Given the description of an element on the screen output the (x, y) to click on. 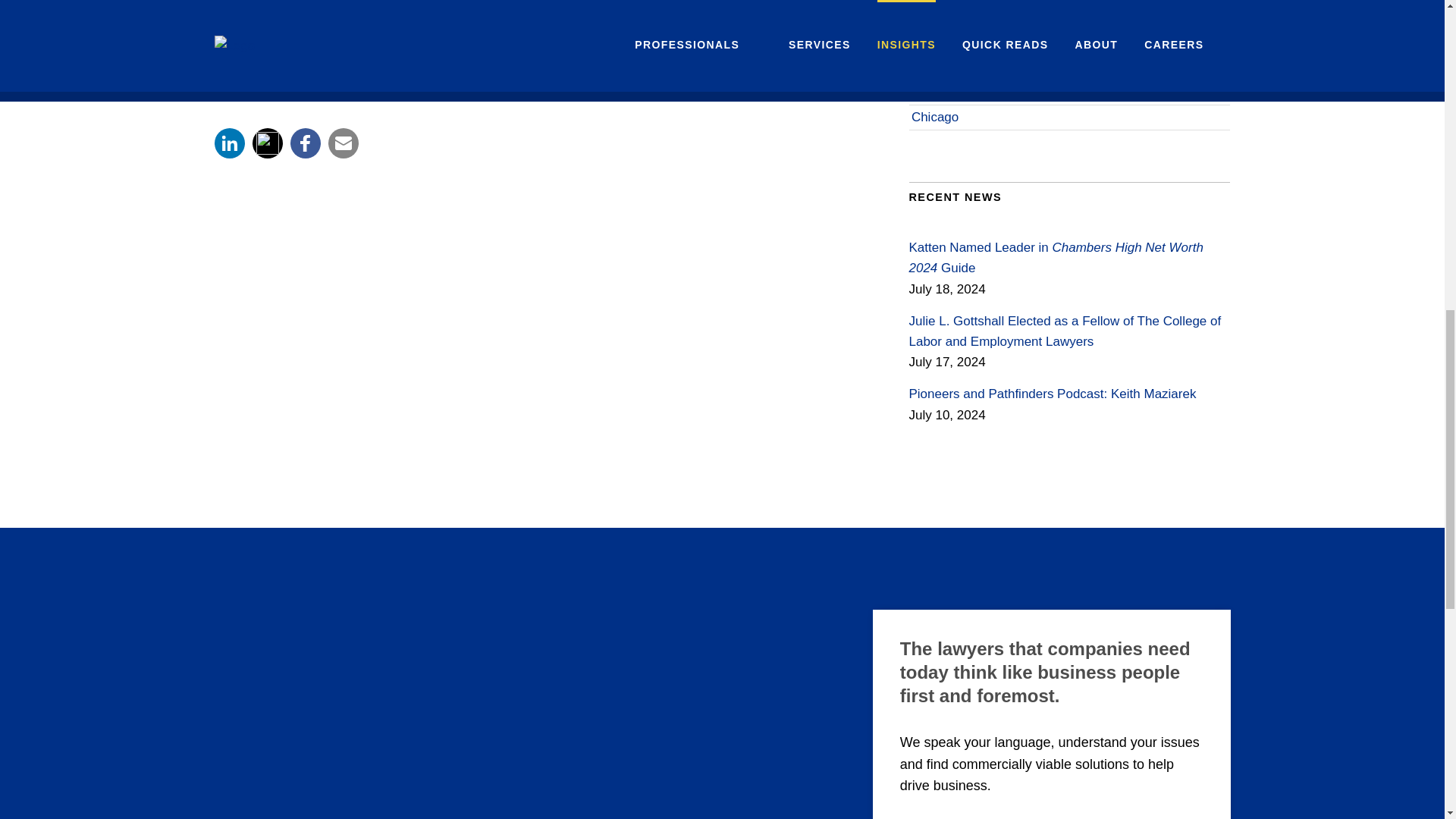
Facebook (304, 143)
Email (342, 143)
LinkedIn (228, 143)
